Given the description of an element on the screen output the (x, y) to click on. 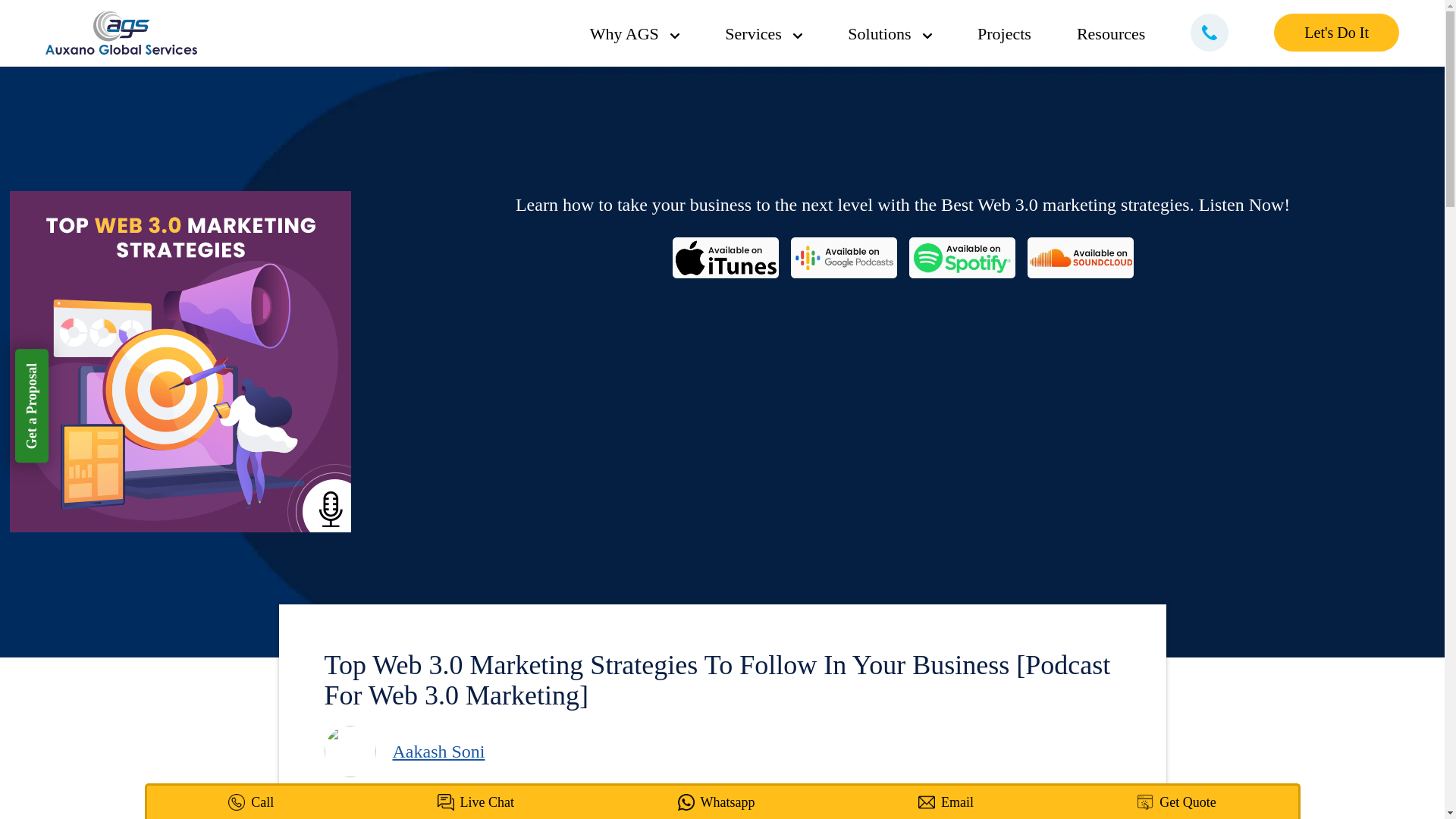
Vector Smart Object1 (797, 35)
Vector Smart Object1 (674, 35)
icon-header-call- (1209, 32)
Why AGS Vector Smart Object1 (646, 33)
Vector Smart Object1 (927, 35)
Services Vector Smart Object1 (763, 33)
